Given the description of an element on the screen output the (x, y) to click on. 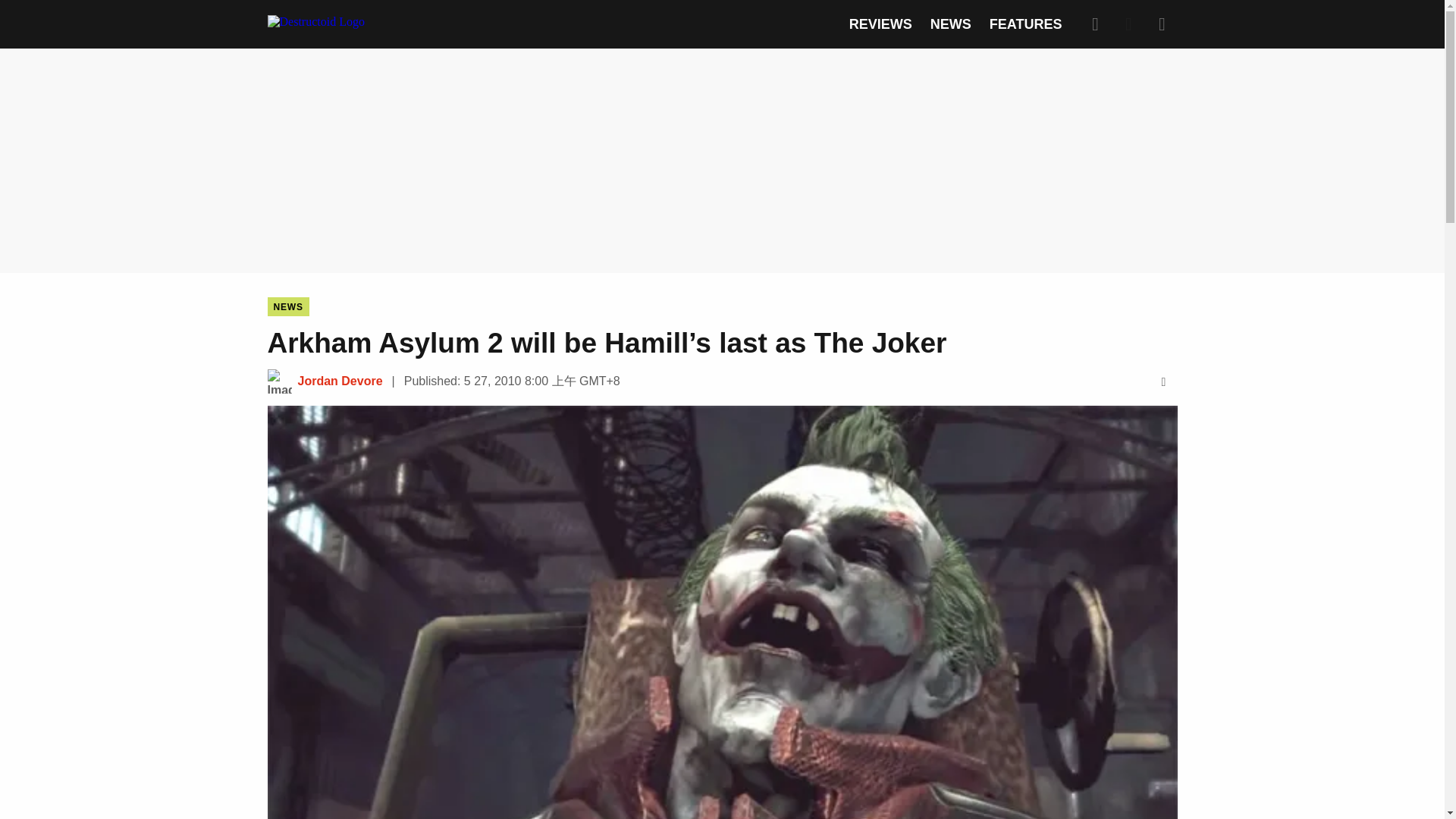
Search (1094, 24)
NEWS (287, 306)
Expand Menu (1161, 24)
FEATURES (1026, 23)
NEWS (950, 23)
REVIEWS (880, 23)
Dark Mode (1127, 24)
